Given the description of an element on the screen output the (x, y) to click on. 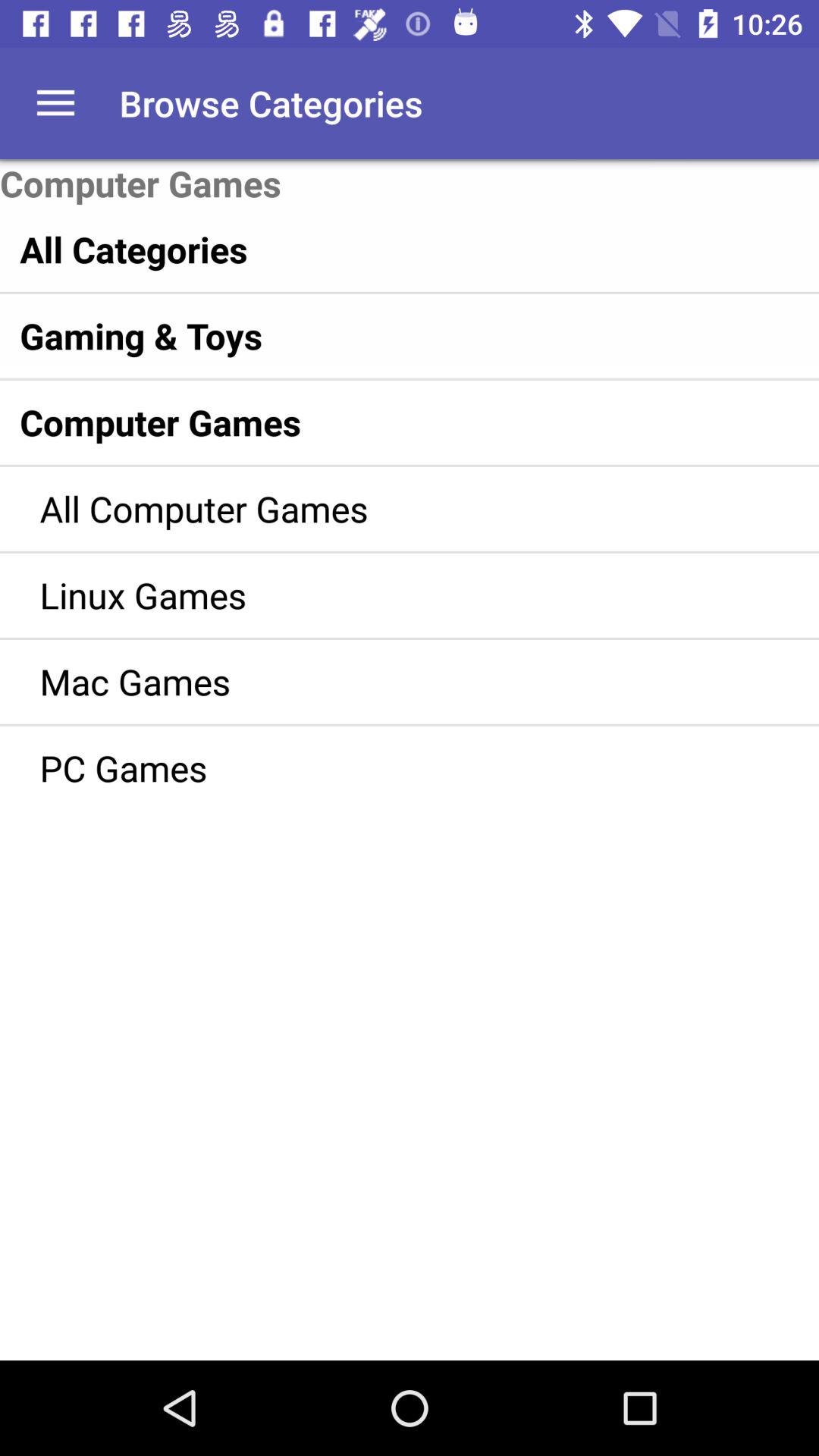
launch app next to browse categories item (55, 103)
